Given the description of an element on the screen output the (x, y) to click on. 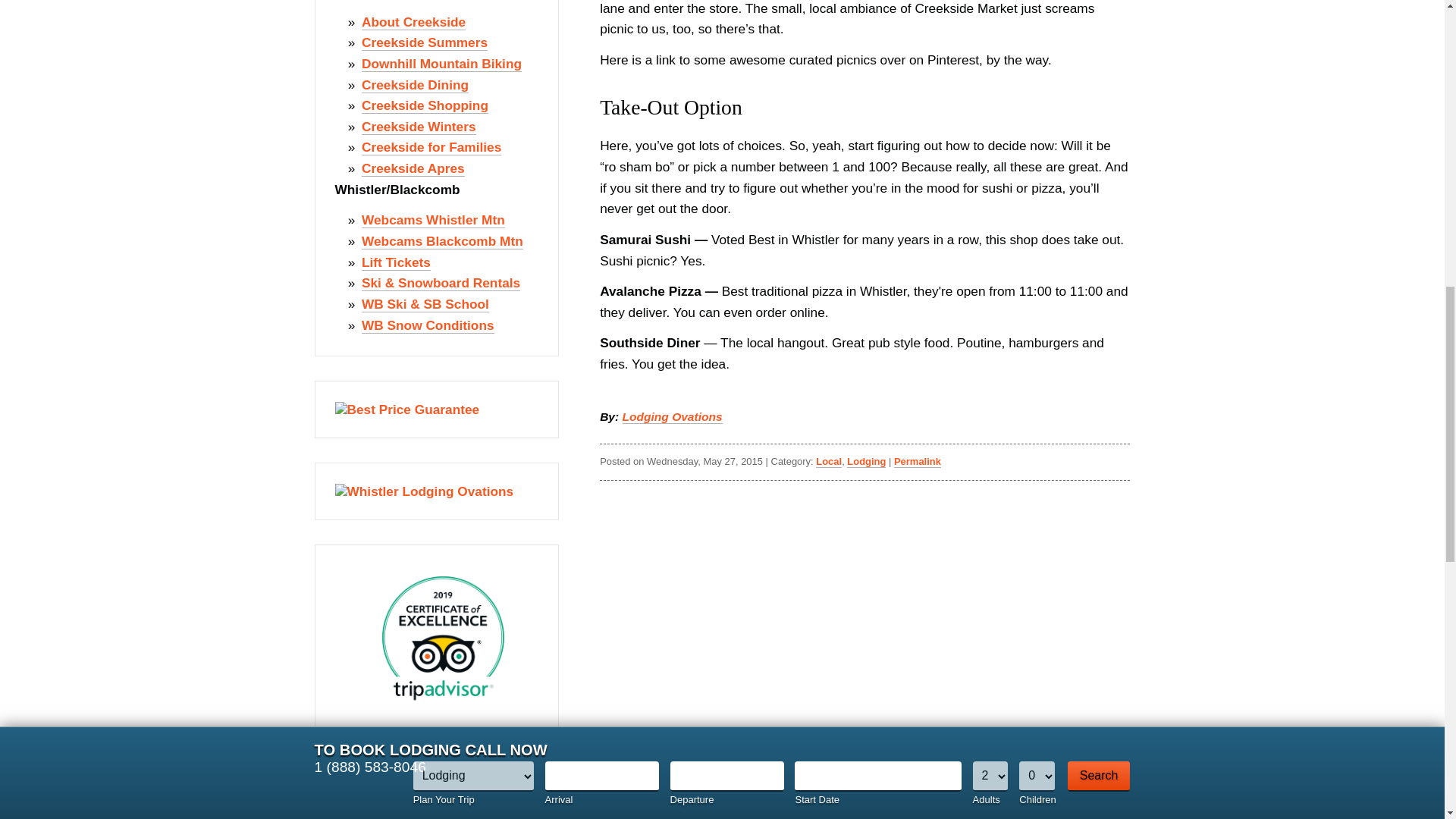
Permalink (916, 461)
Lodging (866, 461)
Lodging Ovations (672, 417)
Local (828, 461)
